Given the description of an element on the screen output the (x, y) to click on. 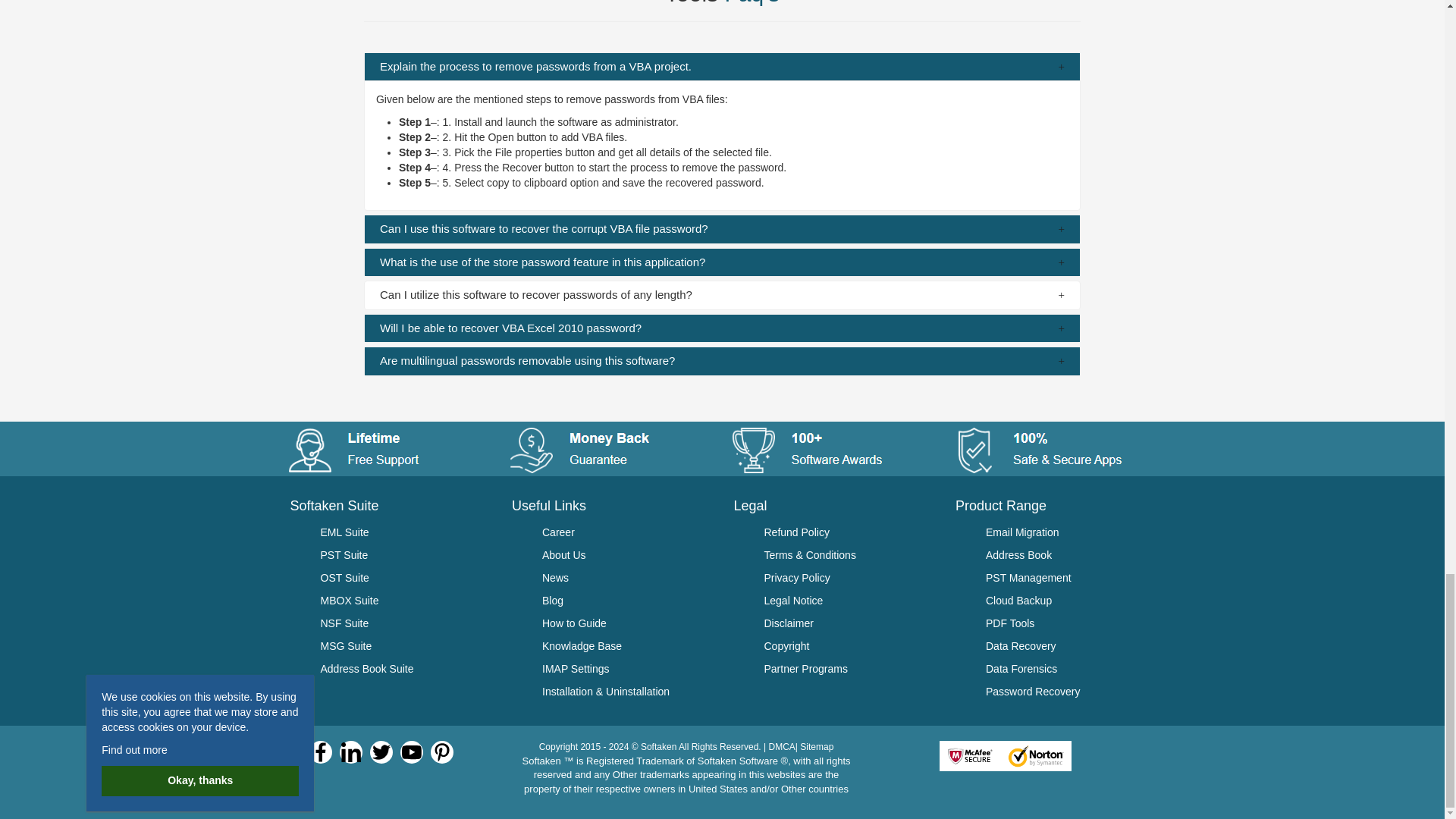
Refund Policy (848, 531)
Knowladge Base (626, 645)
Legal Notice (848, 599)
MBOX Suite (404, 599)
Career (626, 531)
Address Book Suite (404, 668)
Blog (626, 599)
Will I be able to recover VBA Excel 2010 password? (722, 328)
NSF Suite (404, 622)
News (626, 577)
How to Guide (626, 622)
OST Suite (404, 577)
About Us (626, 554)
